Given the description of an element on the screen output the (x, y) to click on. 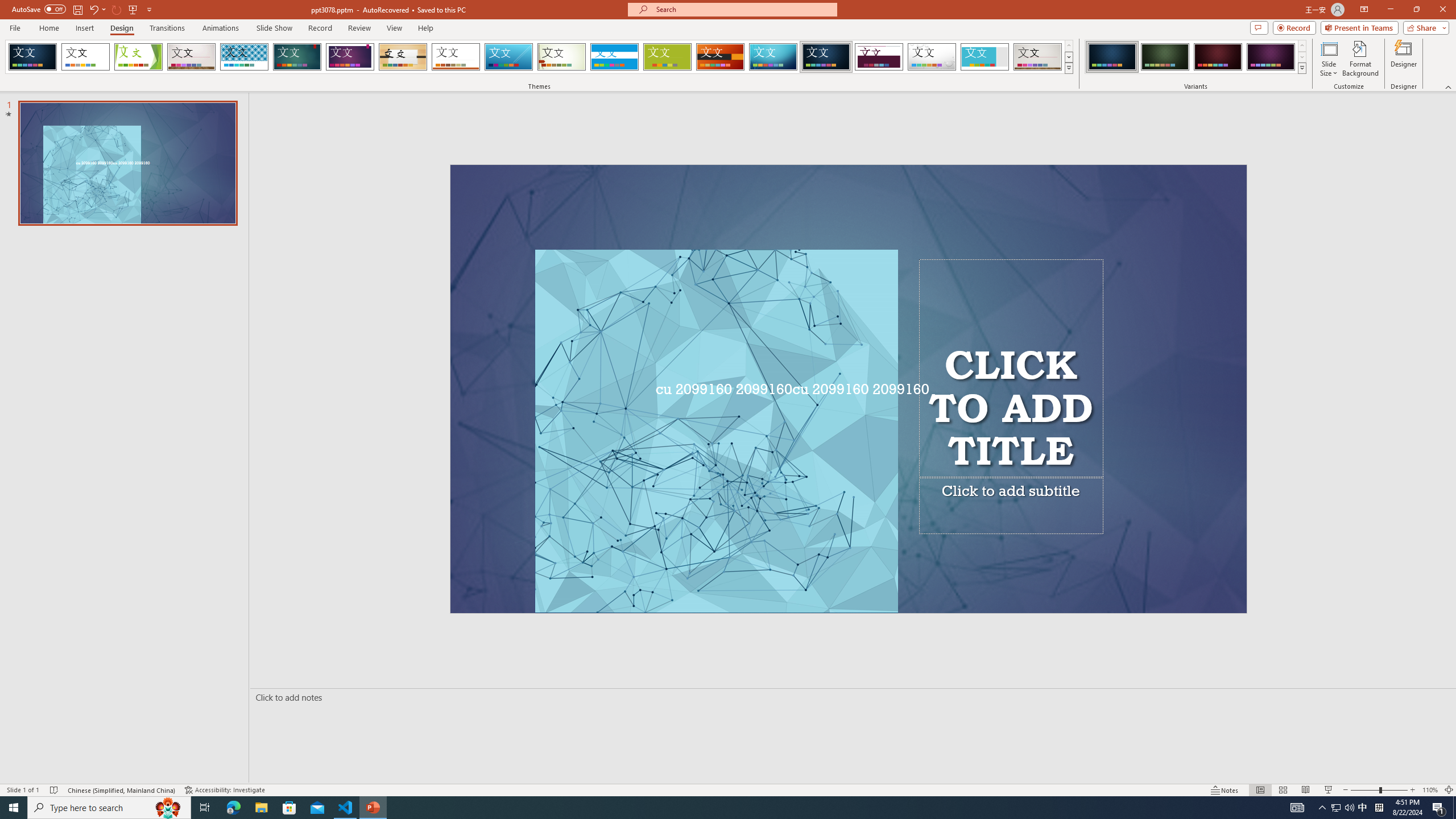
Banded (614, 56)
Slice (508, 56)
Ion (296, 56)
Damask Variant 3 (1217, 56)
